Given the description of an element on the screen output the (x, y) to click on. 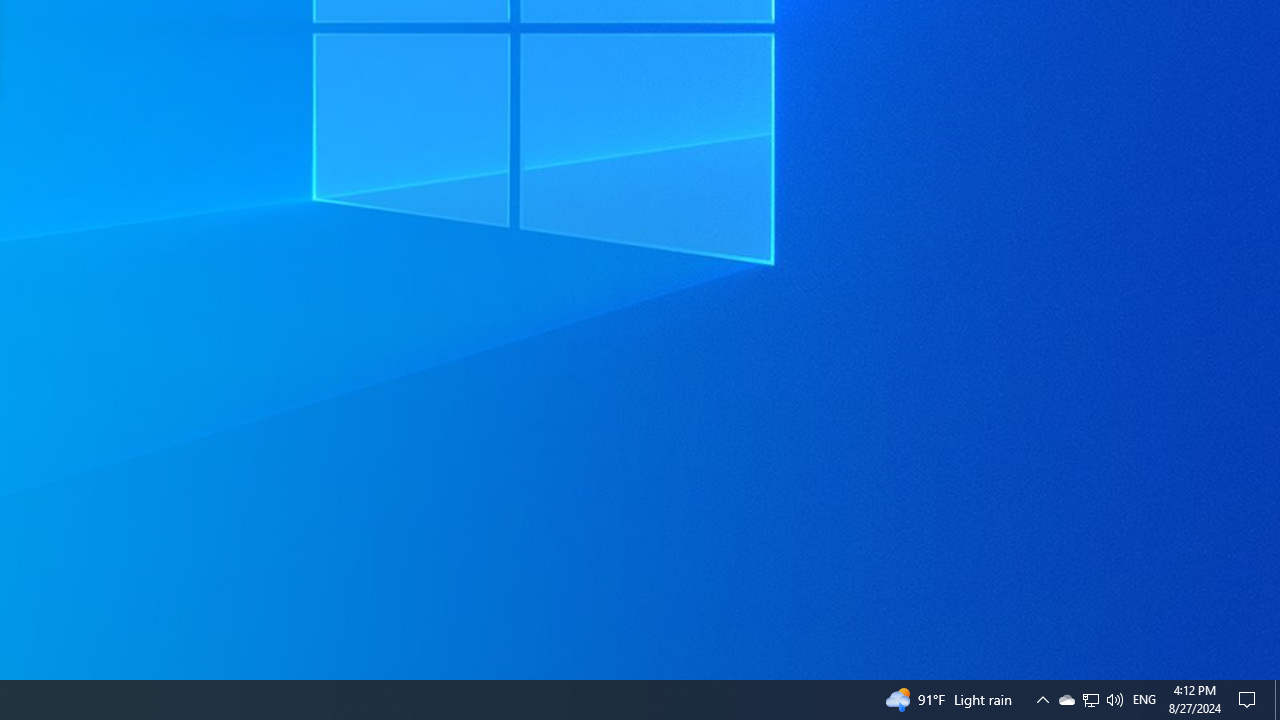
Show desktop (1277, 699)
User Promoted Notification Area (1090, 699)
Tray Input Indicator - English (United States) (1144, 699)
Action Center, No new notifications (1250, 699)
Q2790: 100% (1066, 699)
Notification Chevron (1091, 699)
